Given the description of an element on the screen output the (x, y) to click on. 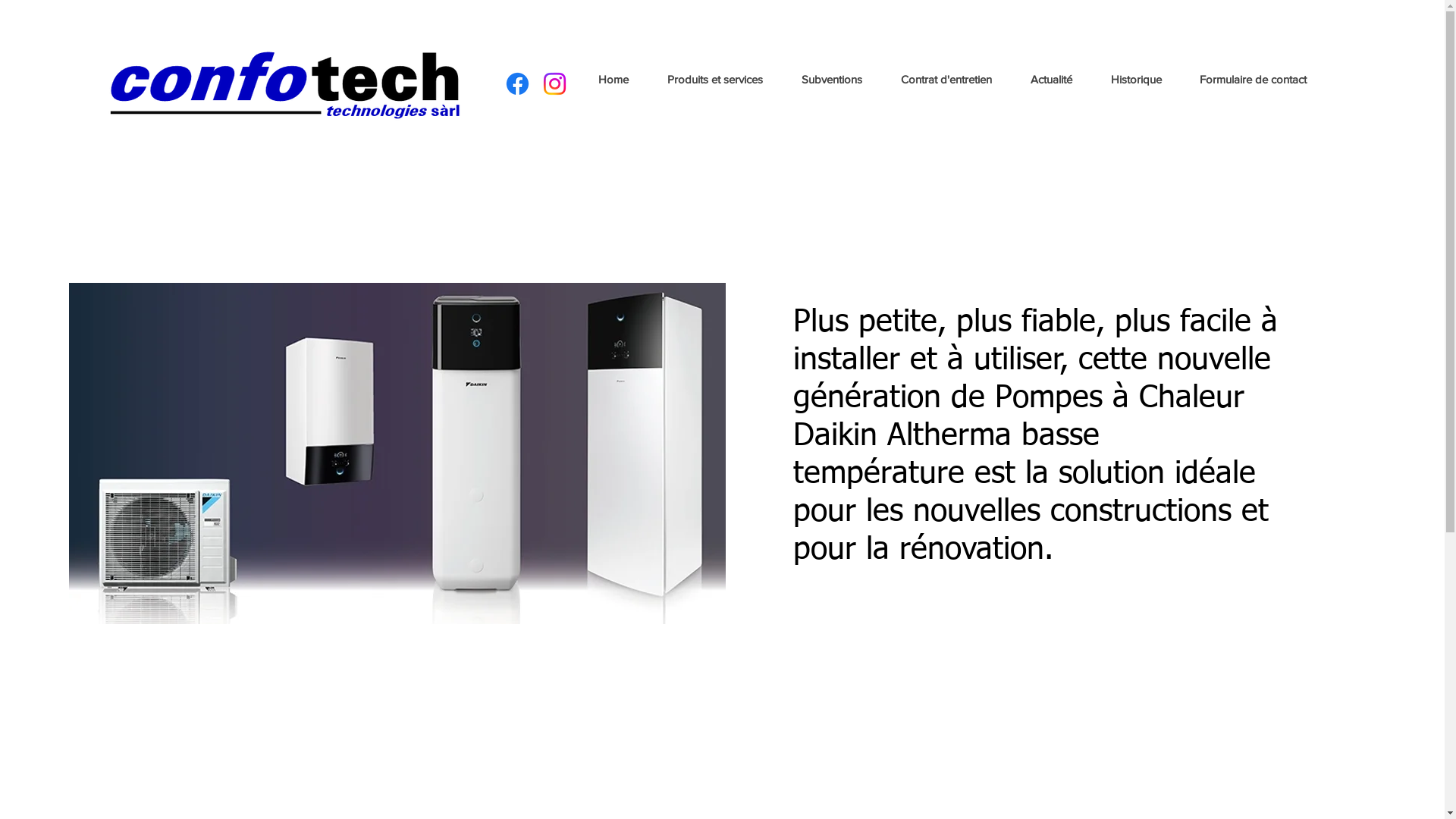
Historique Element type: text (1136, 79)
Home Element type: text (613, 79)
Produits et services Element type: text (714, 79)
Formulaire de contact Element type: text (1251, 79)
Contrat d'entretien Element type: text (945, 79)
Subventions Element type: text (831, 79)
kkk_focus-pompe-di-calore-altherma-3-dai Element type: hover (396, 453)
